Given the description of an element on the screen output the (x, y) to click on. 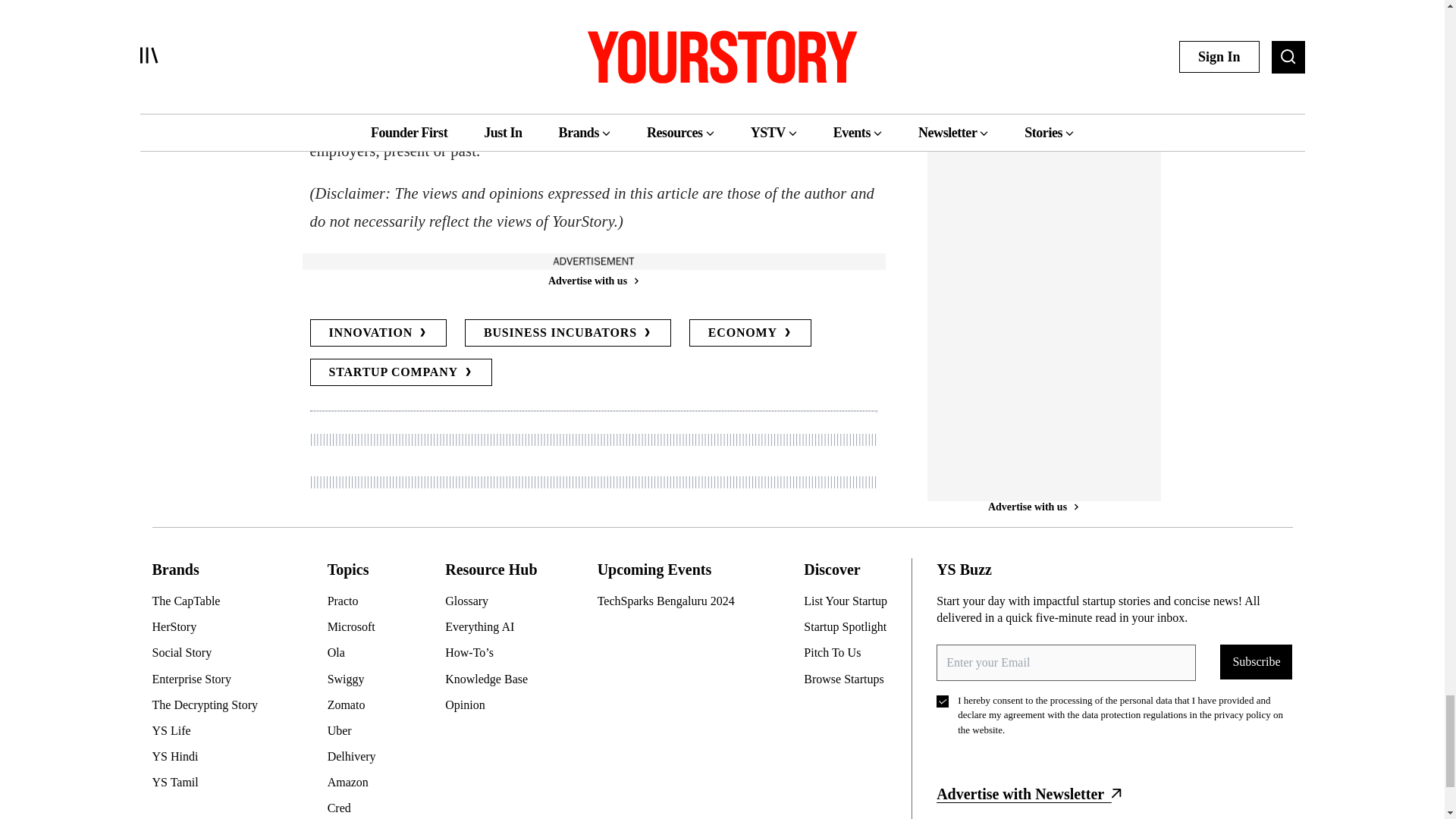
BUSINESS INCUBATORS (567, 332)
ECONOMY (749, 332)
Social Story (210, 652)
INNOVATION (377, 332)
The CapTable (210, 600)
STARTUP COMPANY (400, 371)
Advertise with us (592, 280)
HerStory (210, 627)
